Given the description of an element on the screen output the (x, y) to click on. 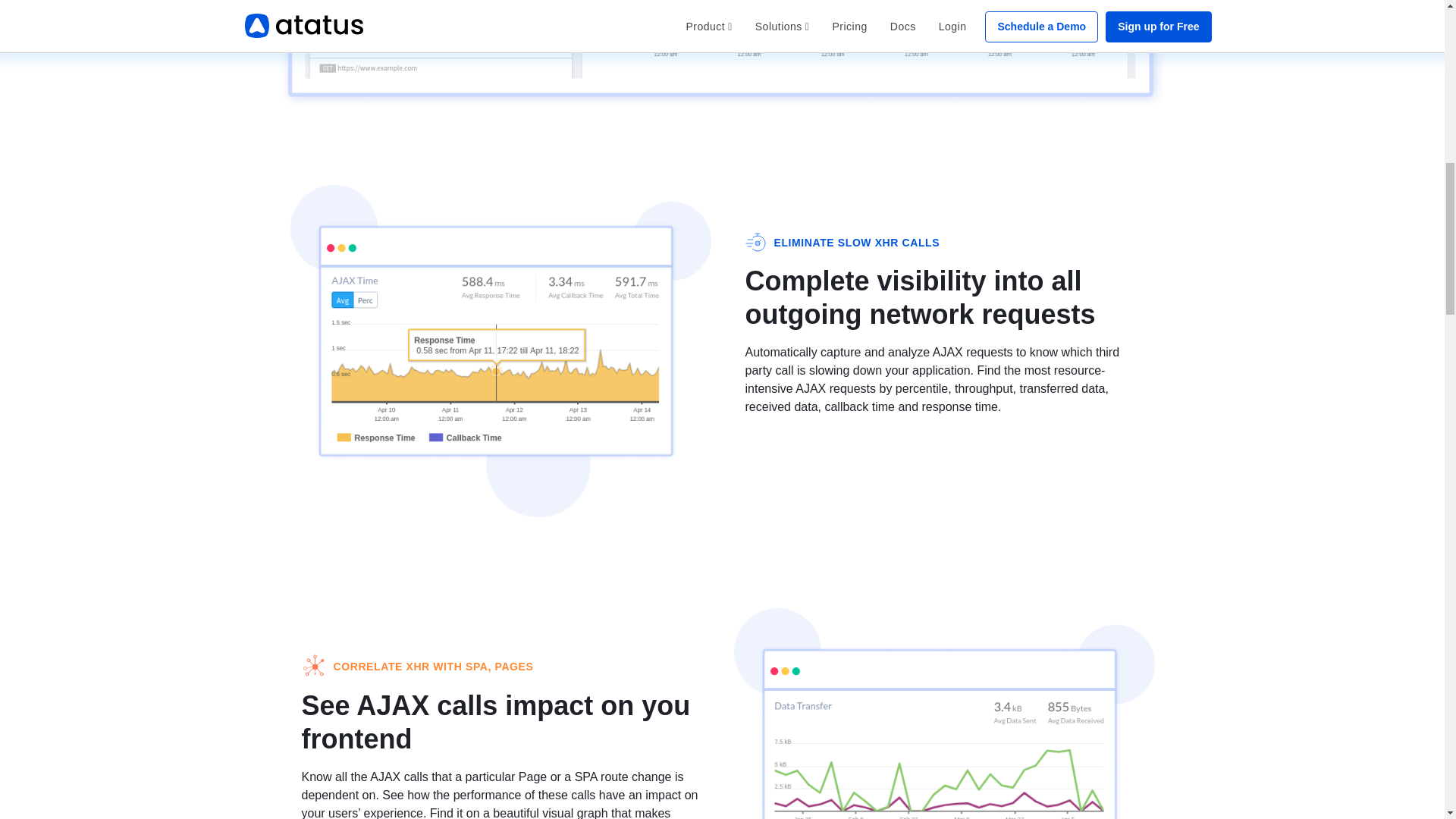
XHR Monitoring (722, 54)
